Given the description of an element on the screen output the (x, y) to click on. 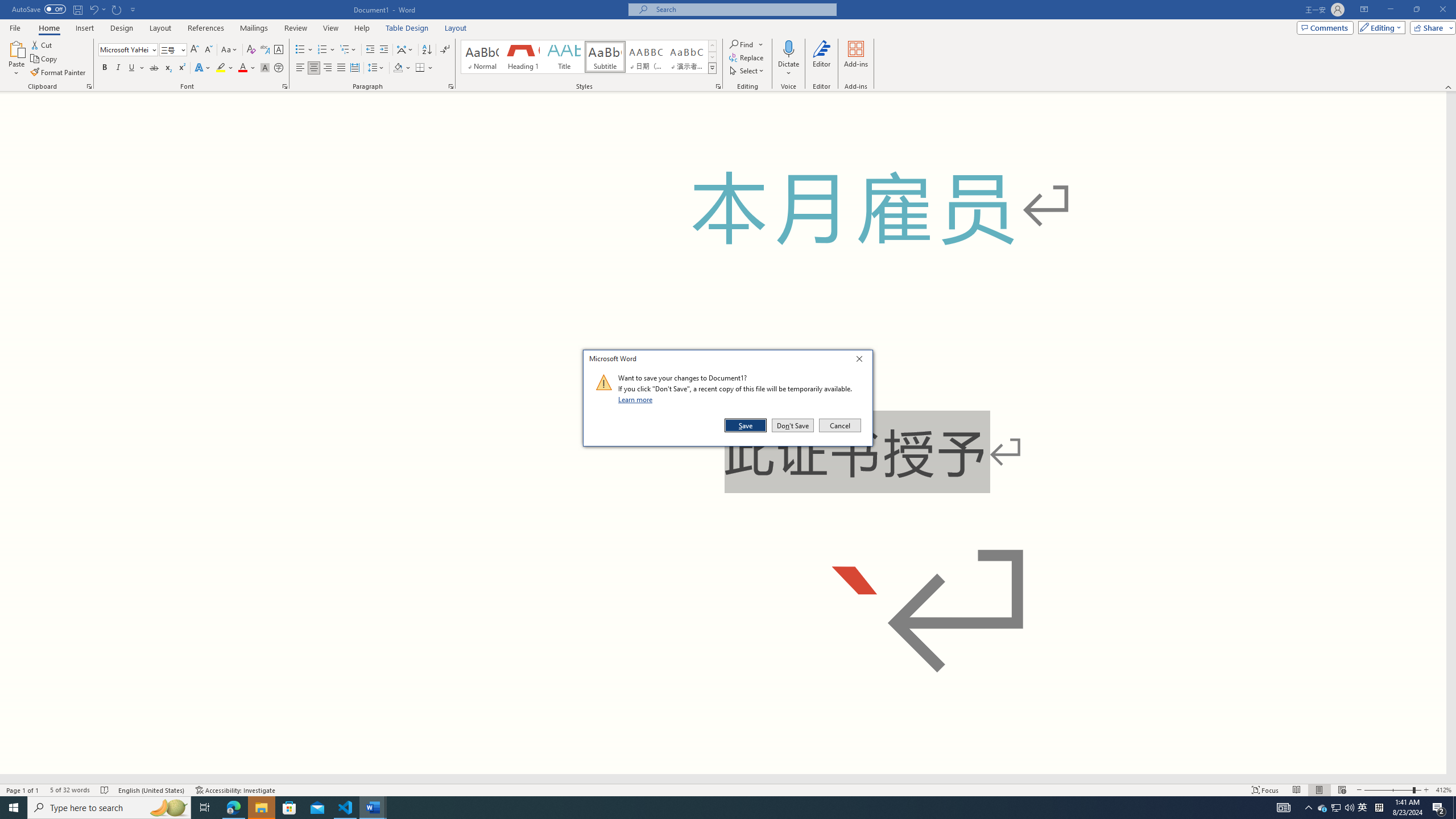
Don't Save (792, 425)
Tray Input Indicator - Chinese (Simplified, China) (1378, 807)
